Given the description of an element on the screen output the (x, y) to click on. 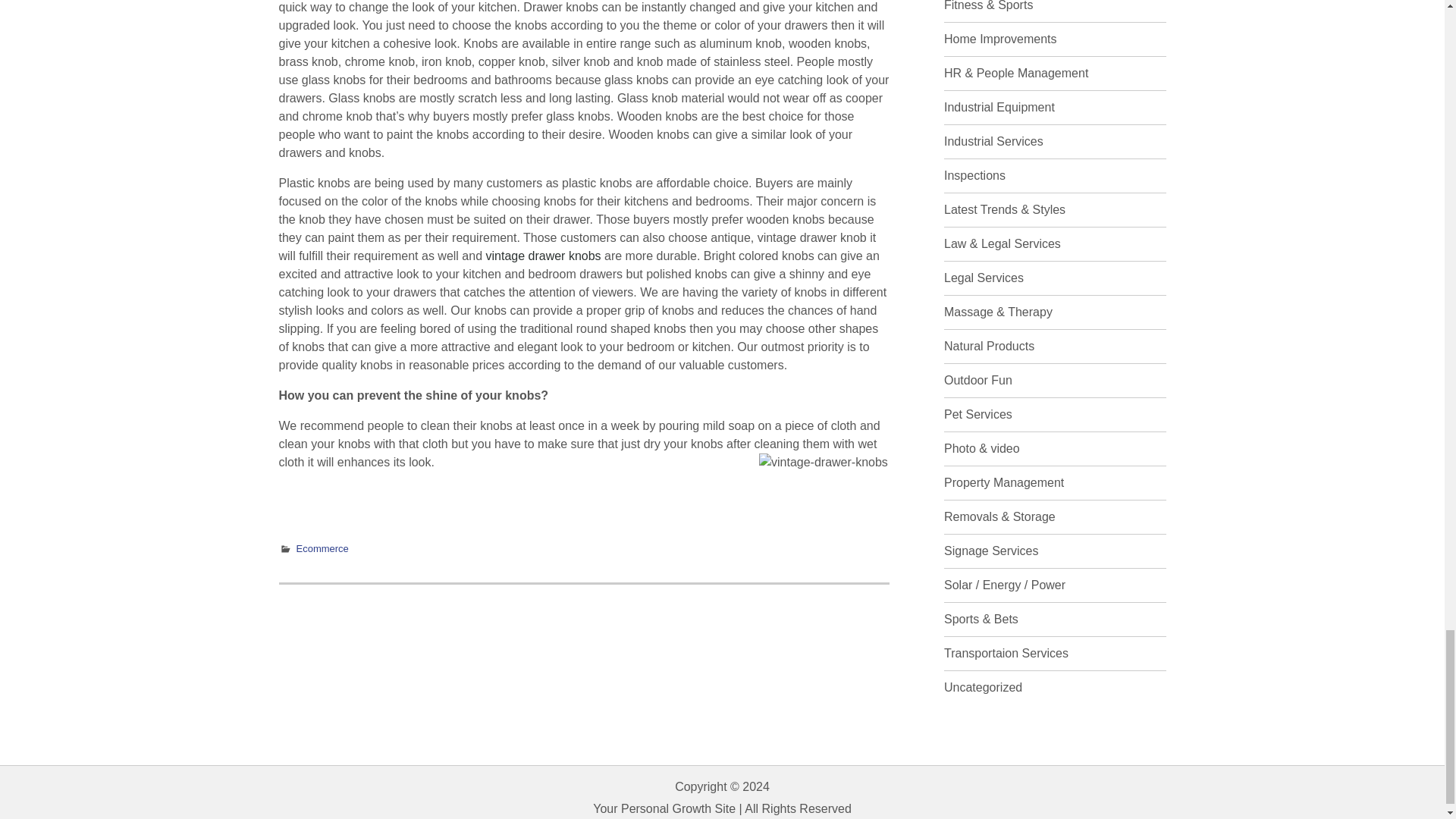
Ecommerce (321, 548)
vintage drawer knobs (541, 255)
vintage-drawer-knobs.jpg (823, 495)
